Given the description of an element on the screen output the (x, y) to click on. 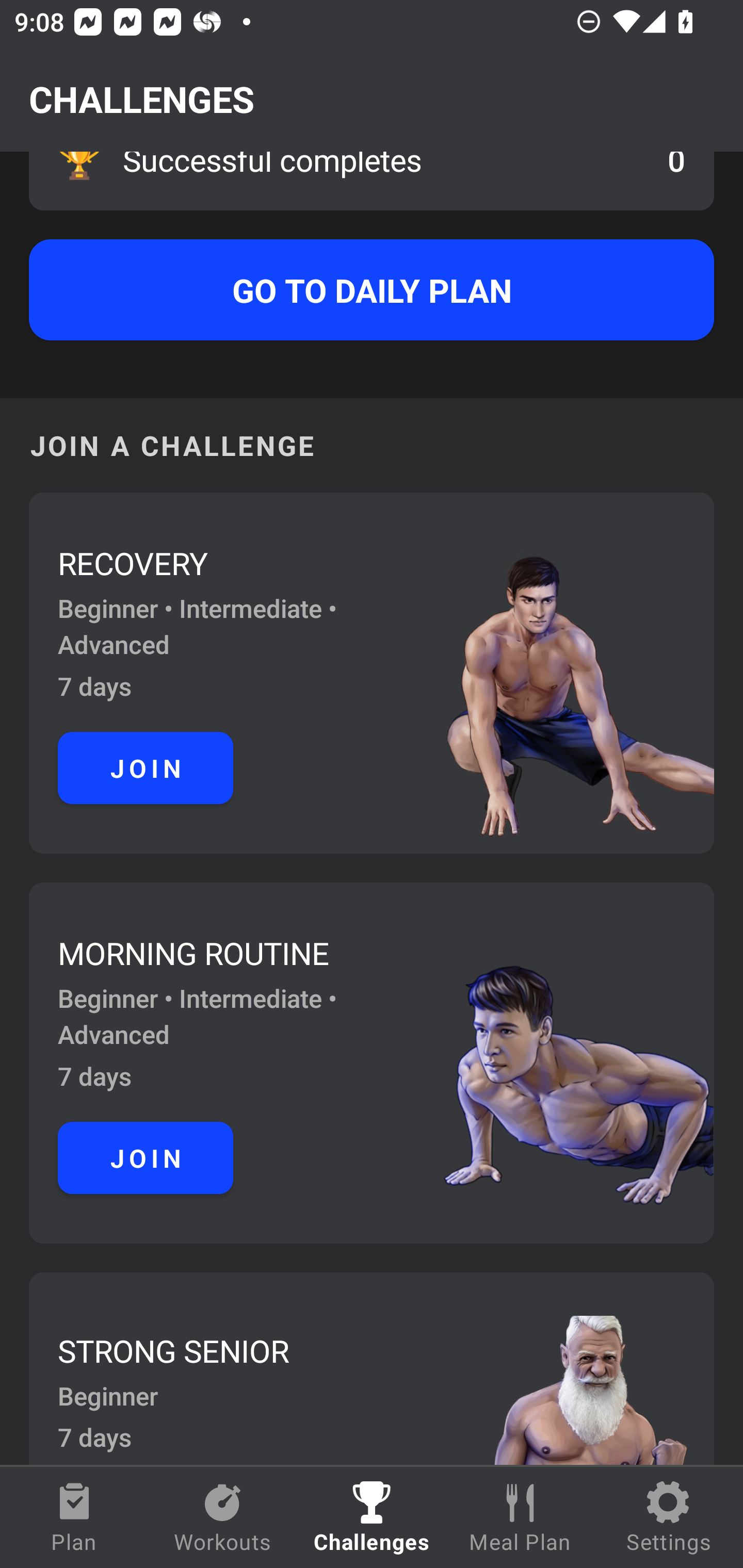
GO TO DAILY PLAN (371, 289)
JOIN (145, 767)
JOIN (145, 1157)
 Plan  (74, 1517)
 Workouts  (222, 1517)
 Meal Plan  (519, 1517)
 Settings  (668, 1517)
